Given the description of an element on the screen output the (x, y) to click on. 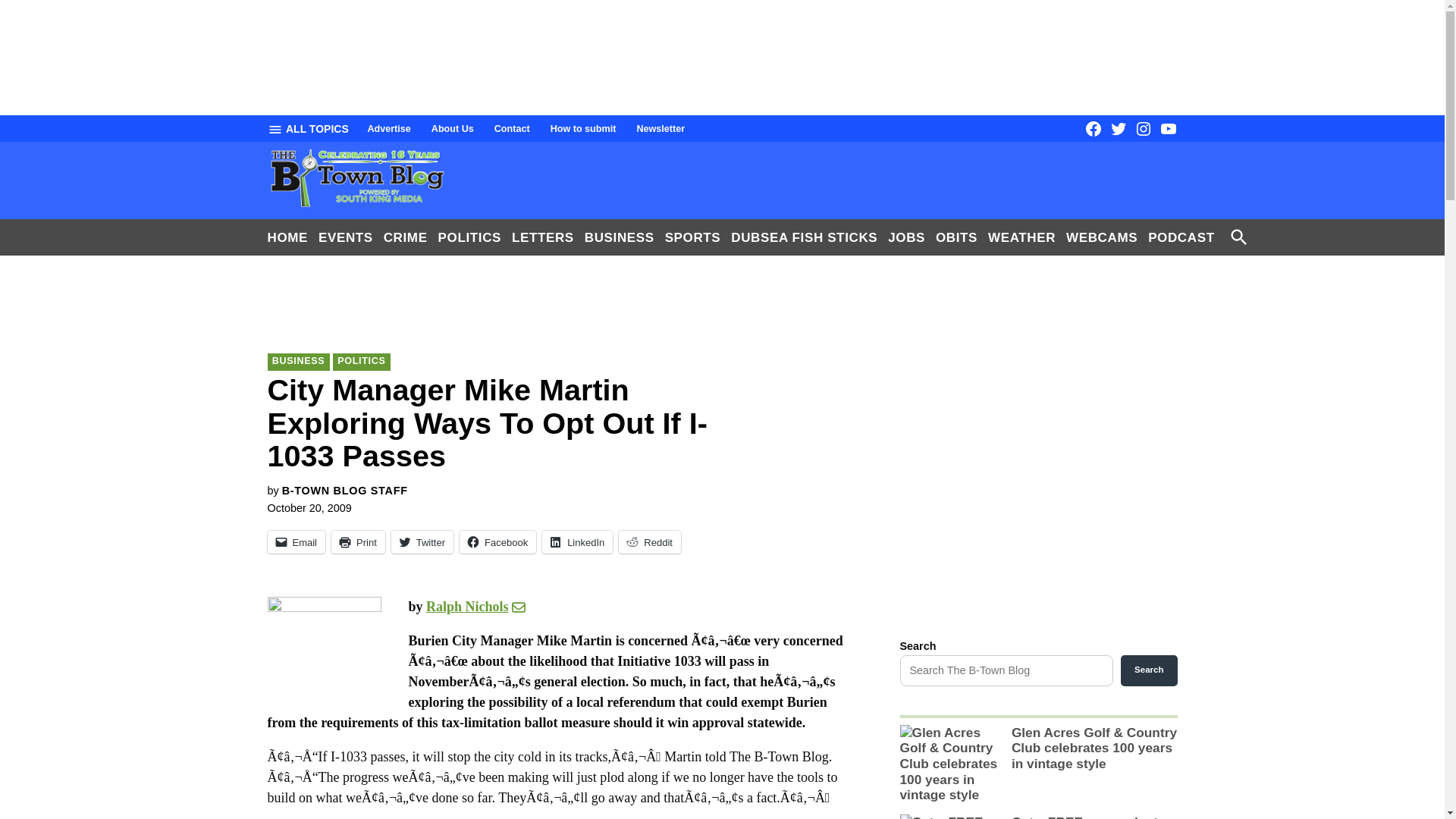
Click to email a link to a friend (295, 541)
Click to share on LinkedIn (576, 541)
Click to share on Reddit (649, 541)
Click to print (358, 541)
Click to share on Facebook (497, 541)
Click to share on Twitter (421, 541)
